Given the description of an element on the screen output the (x, y) to click on. 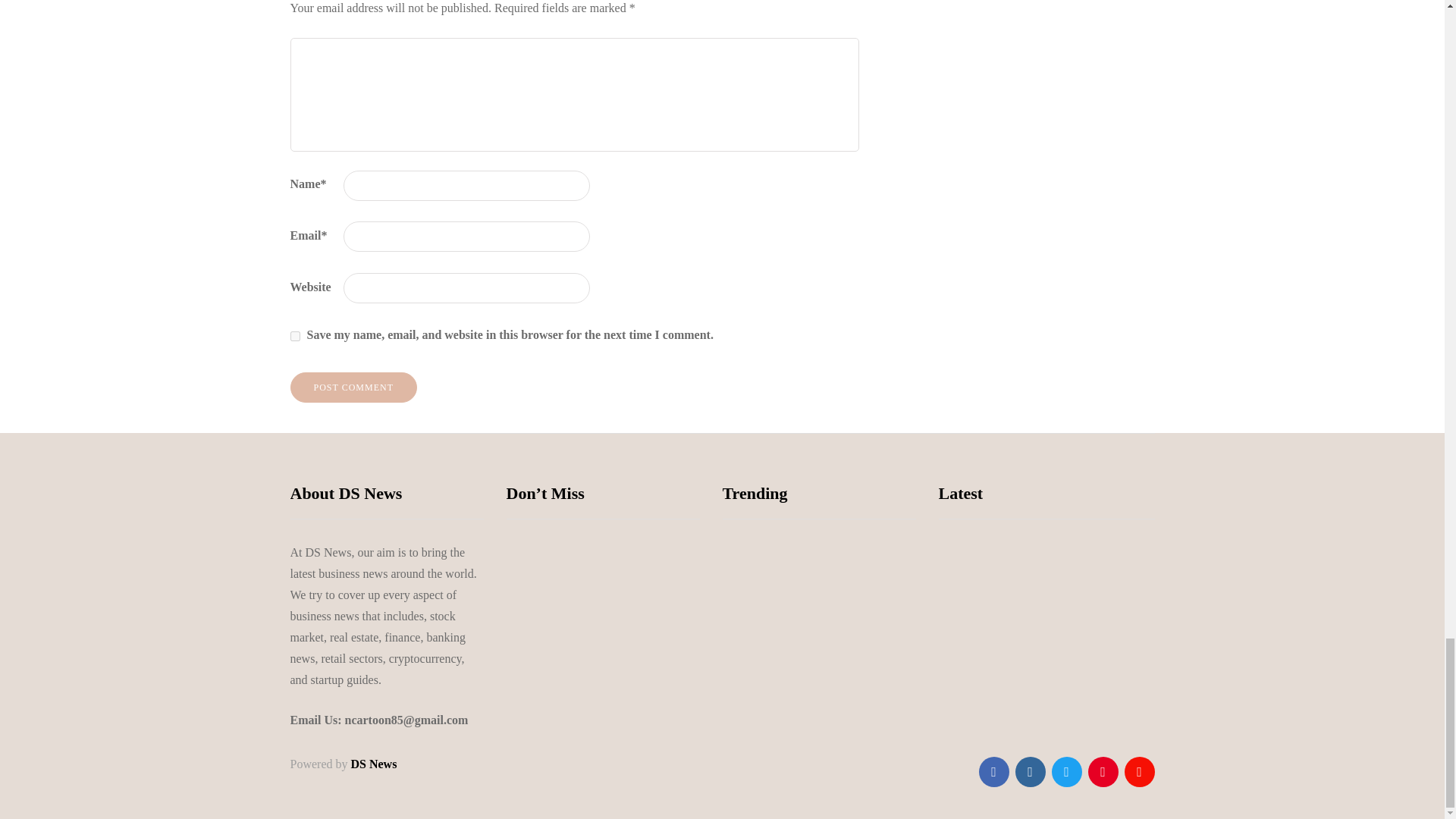
Post comment (352, 387)
yes (294, 336)
